Given the description of an element on the screen output the (x, y) to click on. 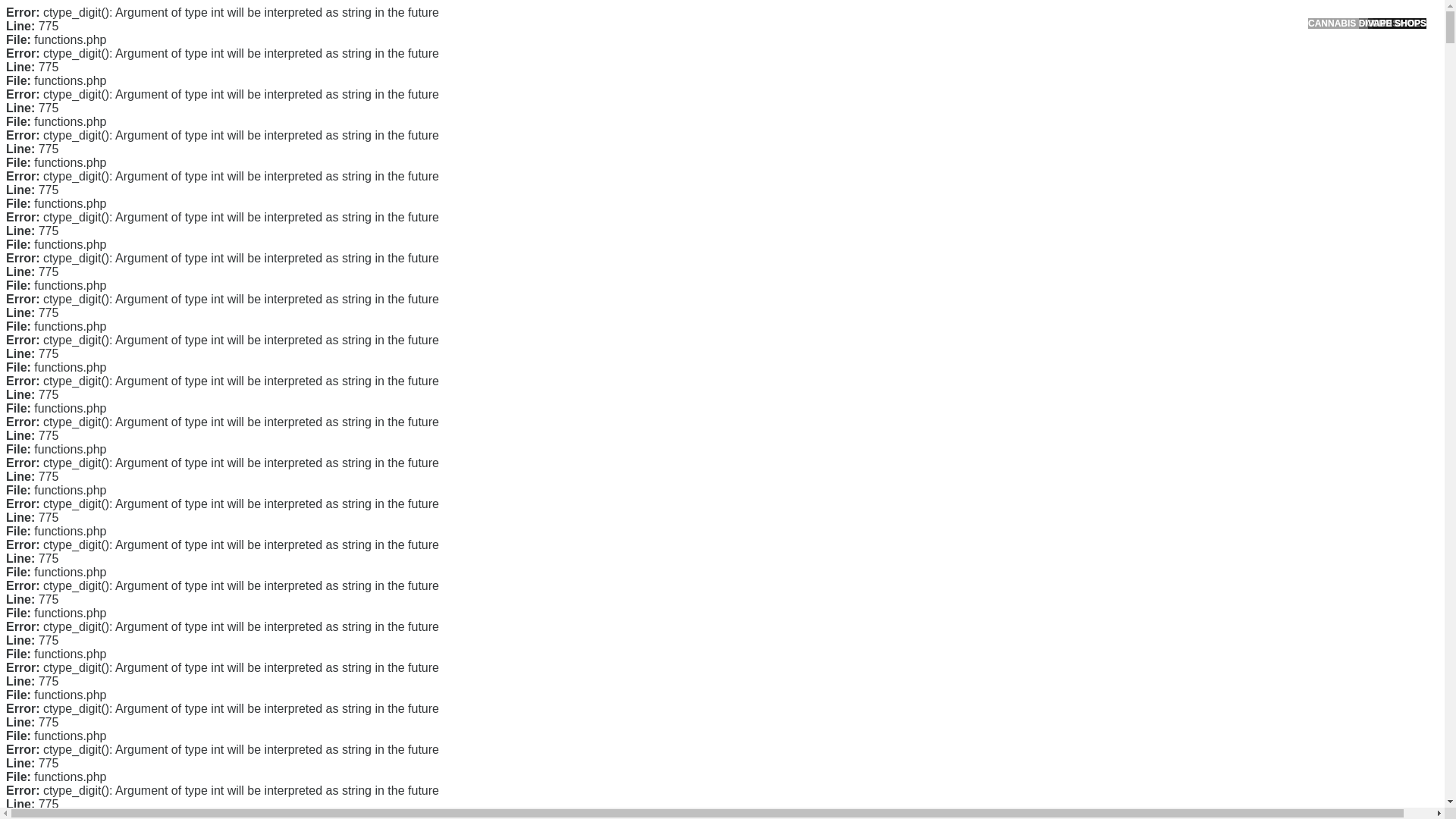
Disclaimer (990, 354)
Privacy Policy (999, 306)
Search (1050, 85)
Terms of Use (996, 330)
Log in (980, 588)
OSCARCOLLECTIVE.CO.UK (432, 28)
ADMINISTRATOR (417, 118)
Search (1050, 85)
Skip to content (34, 9)
September 2020 (1005, 432)
RSS (977, 612)
Latest Article (996, 172)
Search for: (1049, 47)
Contact Us (991, 258)
Search (1050, 85)
